Given the description of an element on the screen output the (x, y) to click on. 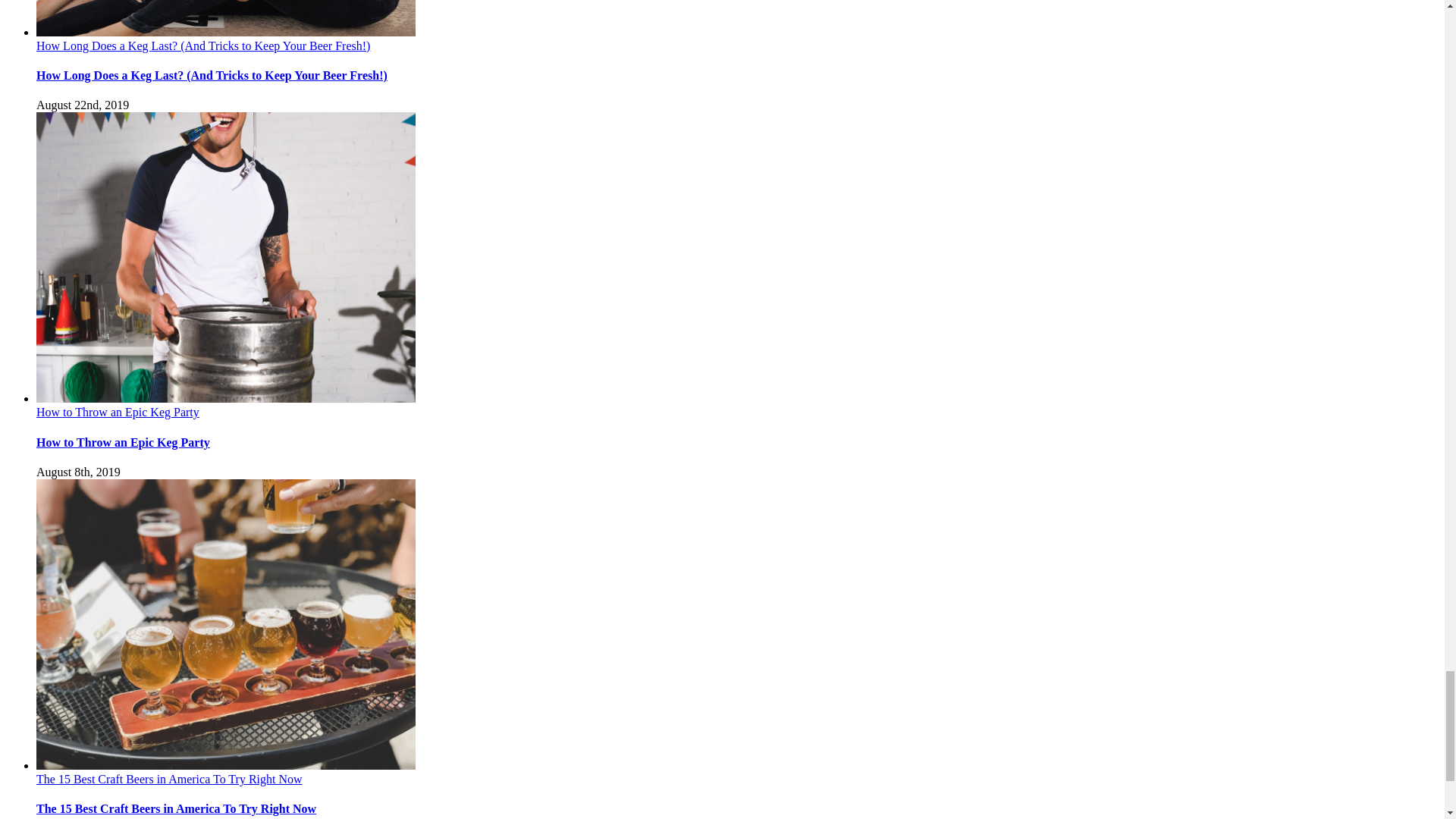
How to Throw an Epic Keg Party (122, 441)
The 15 Best Craft Beers in America To Try Right Now (175, 808)
